Given the description of an element on the screen output the (x, y) to click on. 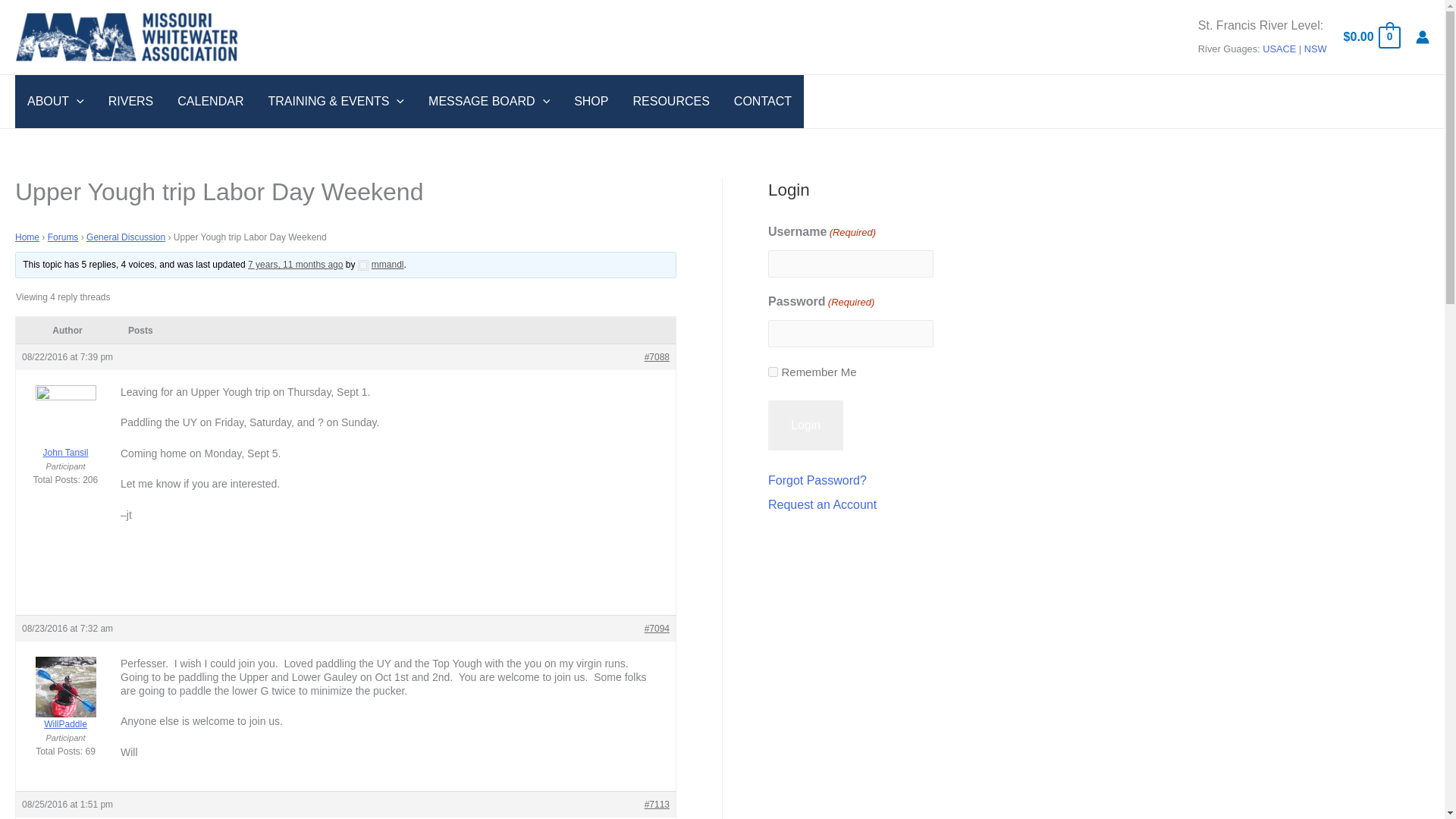
ABOUT (55, 101)
USACE (1278, 48)
Login (805, 425)
SHOP (591, 101)
MESSAGE BOARD (489, 101)
RIVERS (130, 101)
Forgot Password? (817, 480)
Request an Account (822, 504)
View John Tansil's profile (65, 431)
CONTACT (762, 101)
